Given the description of an element on the screen output the (x, y) to click on. 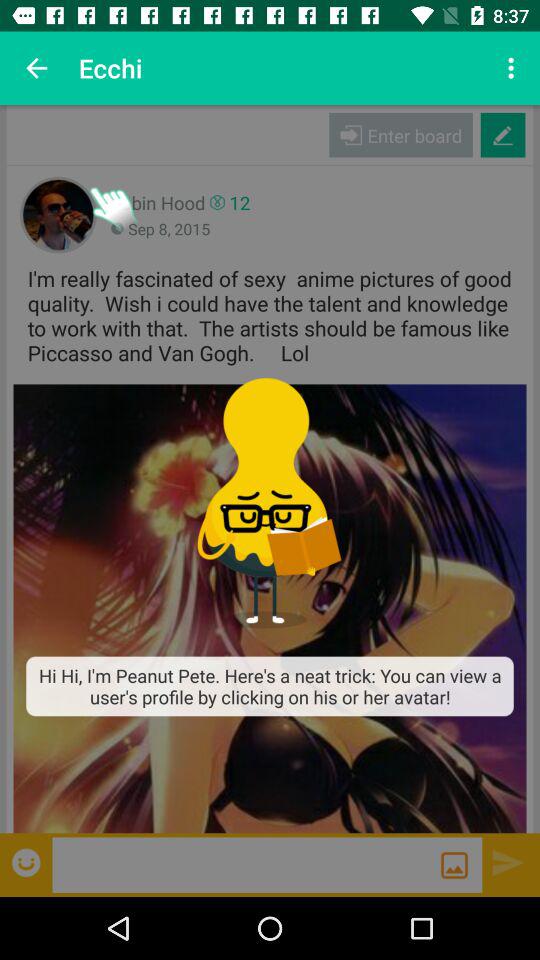
add emoji (28, 862)
